Given the description of an element on the screen output the (x, y) to click on. 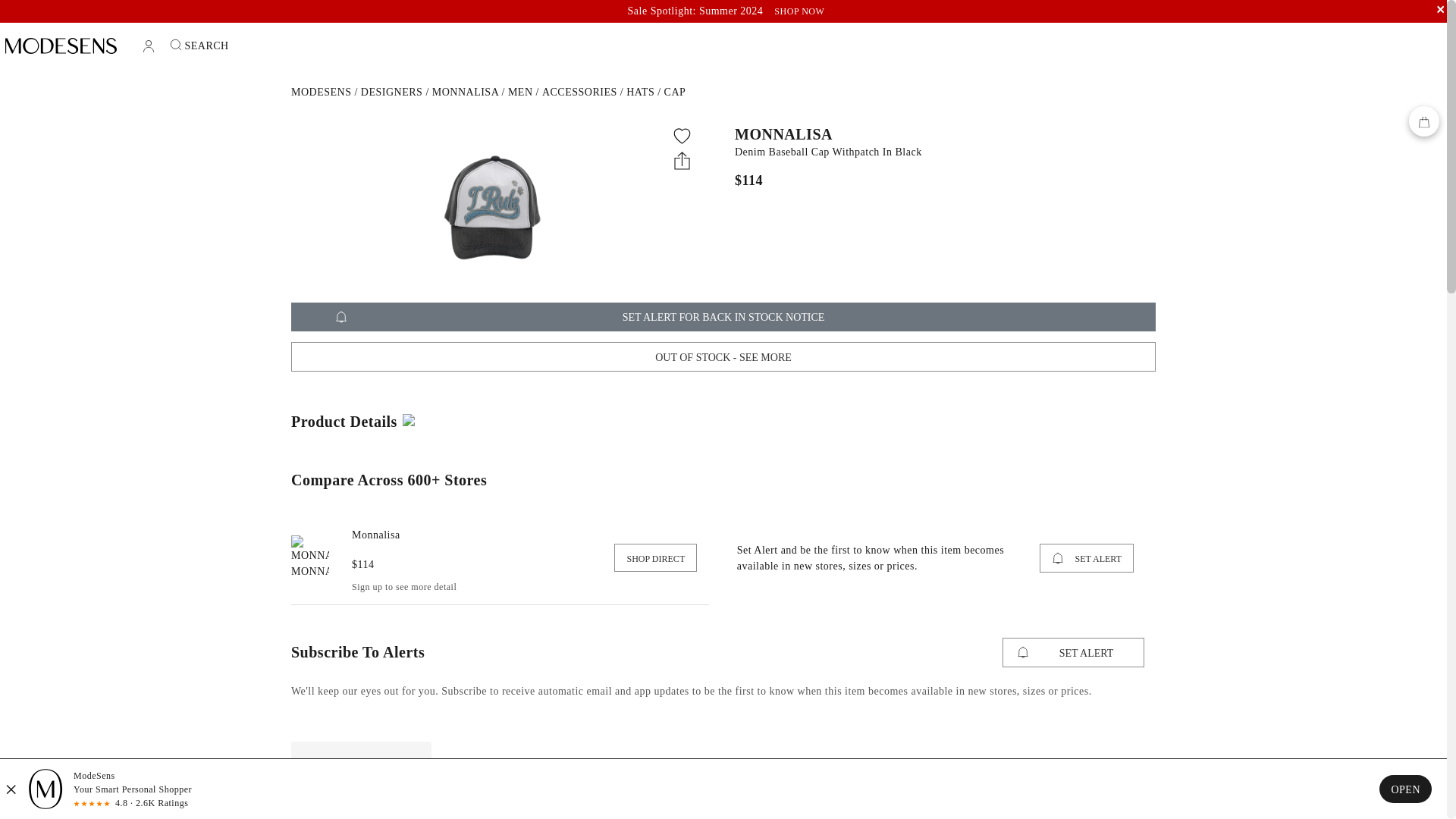
MONNALISA (939, 133)
Share with Friends (681, 159)
Monnalisa Accessories for Men (579, 91)
ModeSens (320, 91)
Add to shopping lists (681, 135)
Buy from store's website (655, 557)
Monnalisa Cap for Men (674, 91)
Designers (392, 91)
Monnalisa Hats for Men (639, 91)
OPEN (1404, 788)
Monnalisa Men (520, 91)
Buy from store's website (376, 534)
Buy from store's website (310, 557)
Monnalisa (465, 91)
Denim Baseball Cap Withpatch In Black (939, 151)
